Given the description of an element on the screen output the (x, y) to click on. 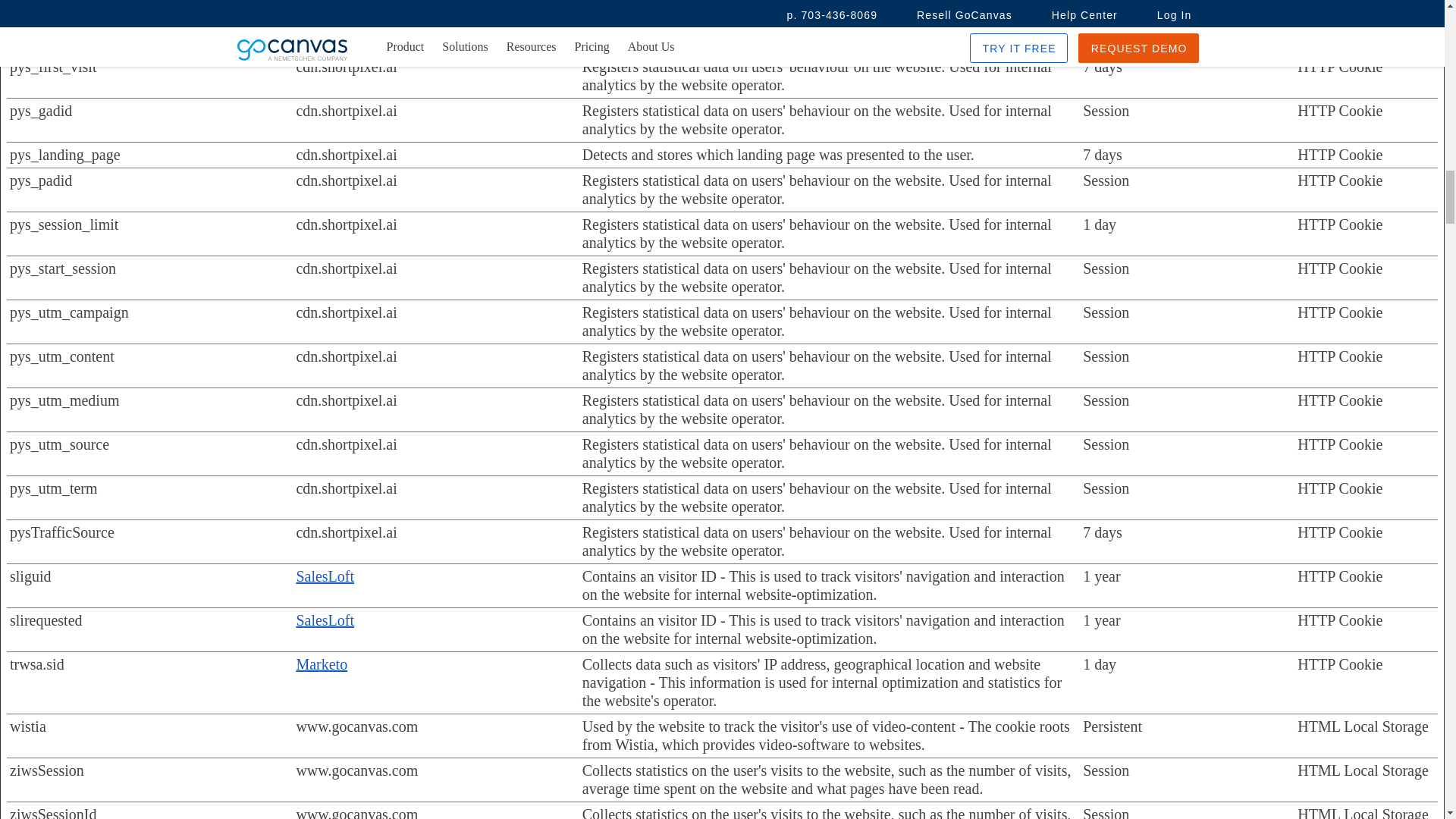
SalesLoft (324, 619)
Marketo (321, 664)
SalesLoft (324, 576)
